Given the description of an element on the screen output the (x, y) to click on. 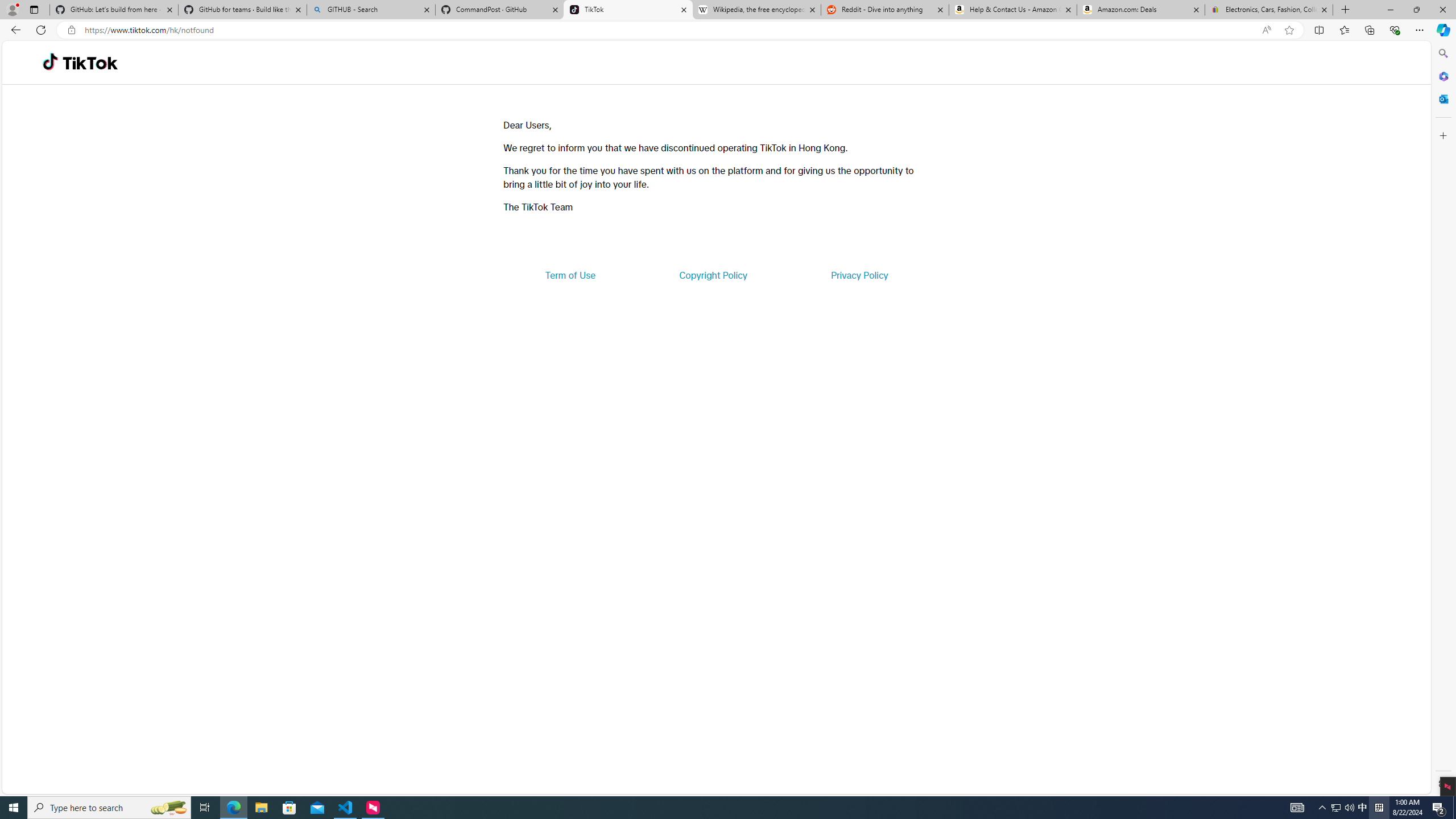
TikTok (628, 9)
Copyright Policy (712, 274)
Reddit - Dive into anything (884, 9)
Term of Use (569, 274)
GITHUB - Search (370, 9)
